Given the description of an element on the screen output the (x, y) to click on. 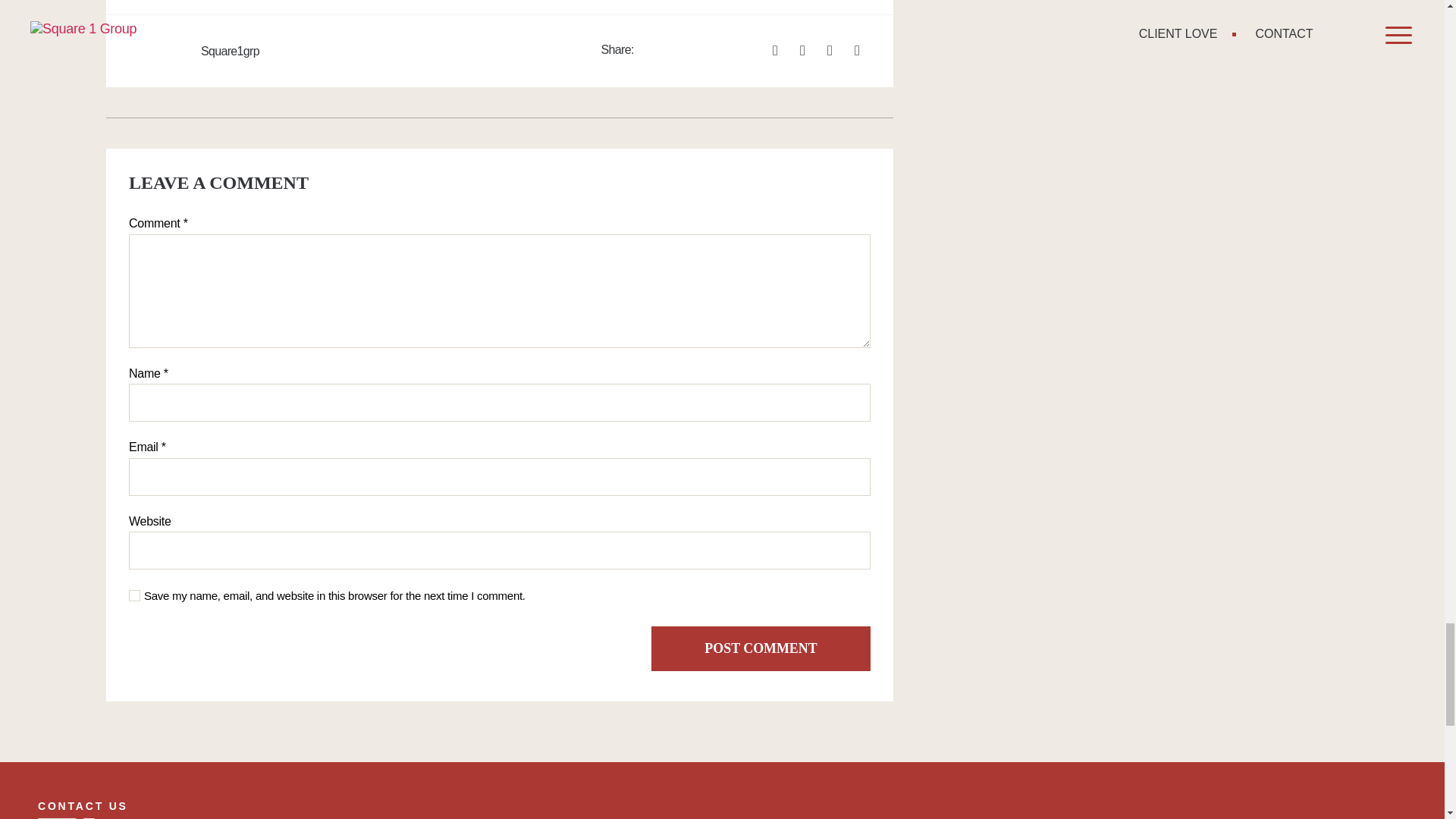
Post Comment (760, 648)
Post Comment (760, 648)
Square1grp (349, 51)
yes (134, 595)
